Given the description of an element on the screen output the (x, y) to click on. 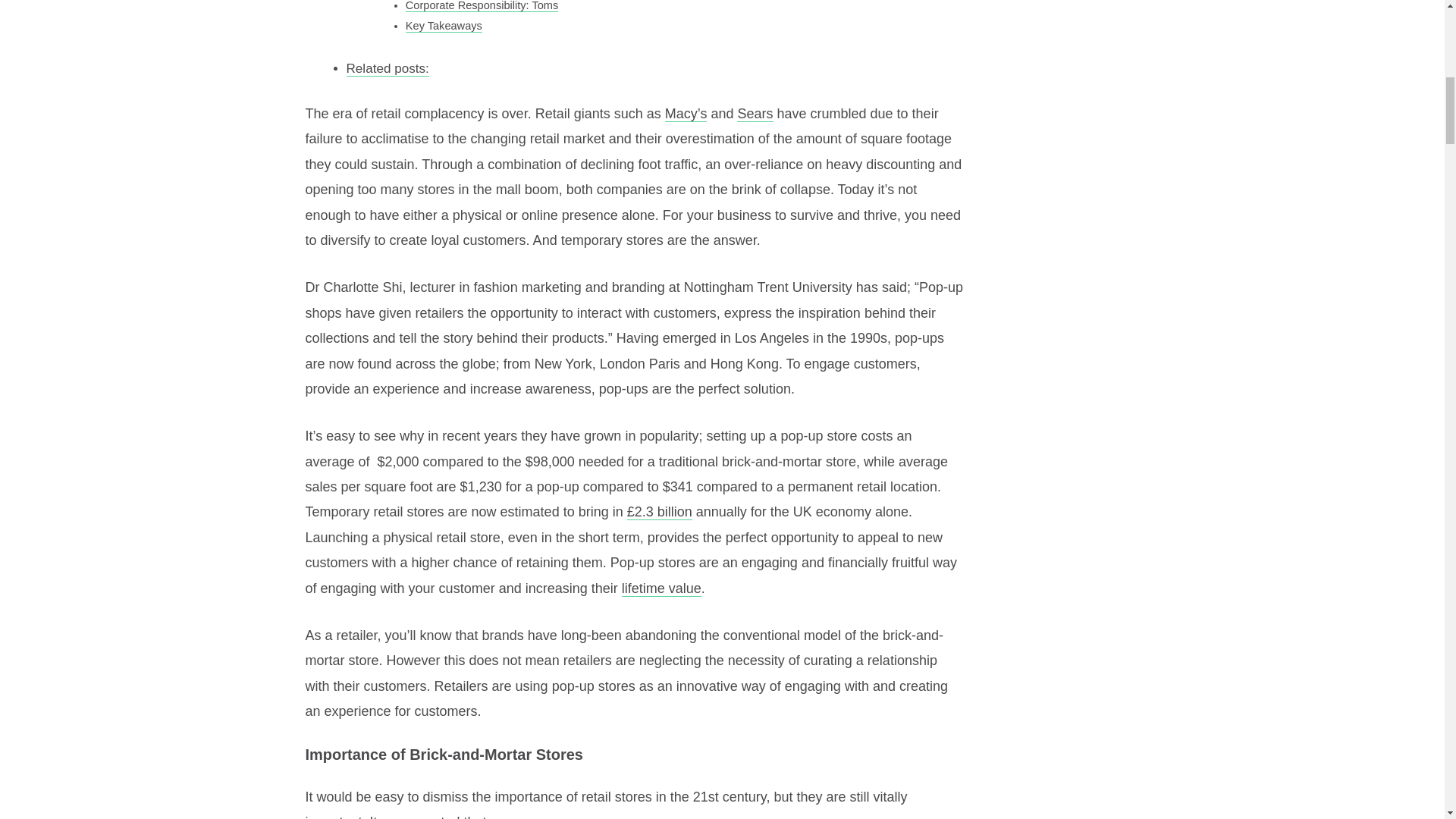
Corporate Responsibility: Toms (481, 6)
Related posts: (387, 68)
Sears (754, 114)
Corporate Responsibility: Toms (481, 6)
Key Takeaways (443, 25)
lifetime value (661, 588)
reported (434, 816)
Related posts: (387, 68)
Key Takeaways (443, 25)
